Given the description of an element on the screen output the (x, y) to click on. 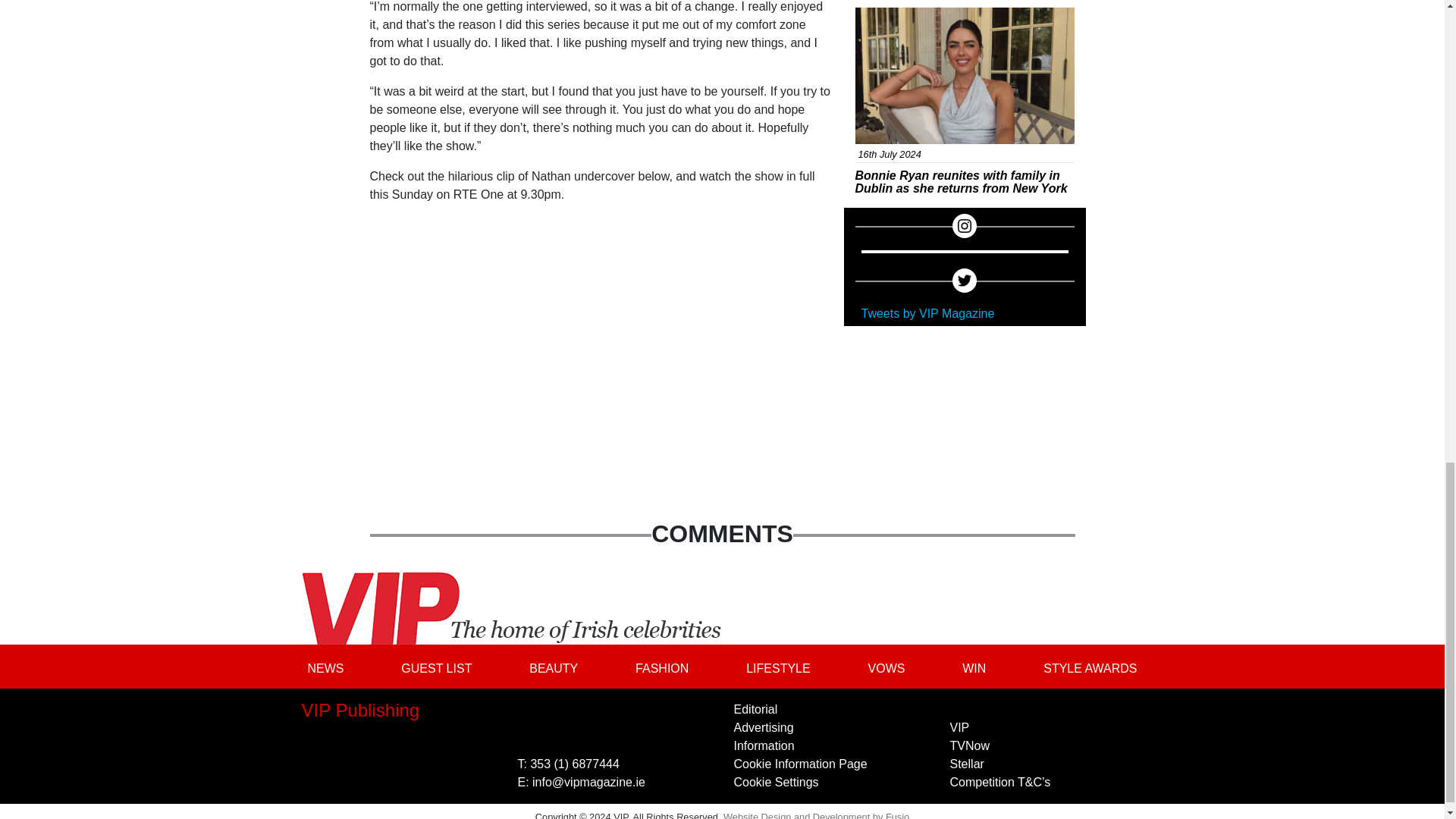
Tweets by VIP Magazine (927, 313)
BEAUTY (552, 667)
News (881, 15)
NEWS (325, 667)
GUEST LIST (435, 667)
